Given the description of an element on the screen output the (x, y) to click on. 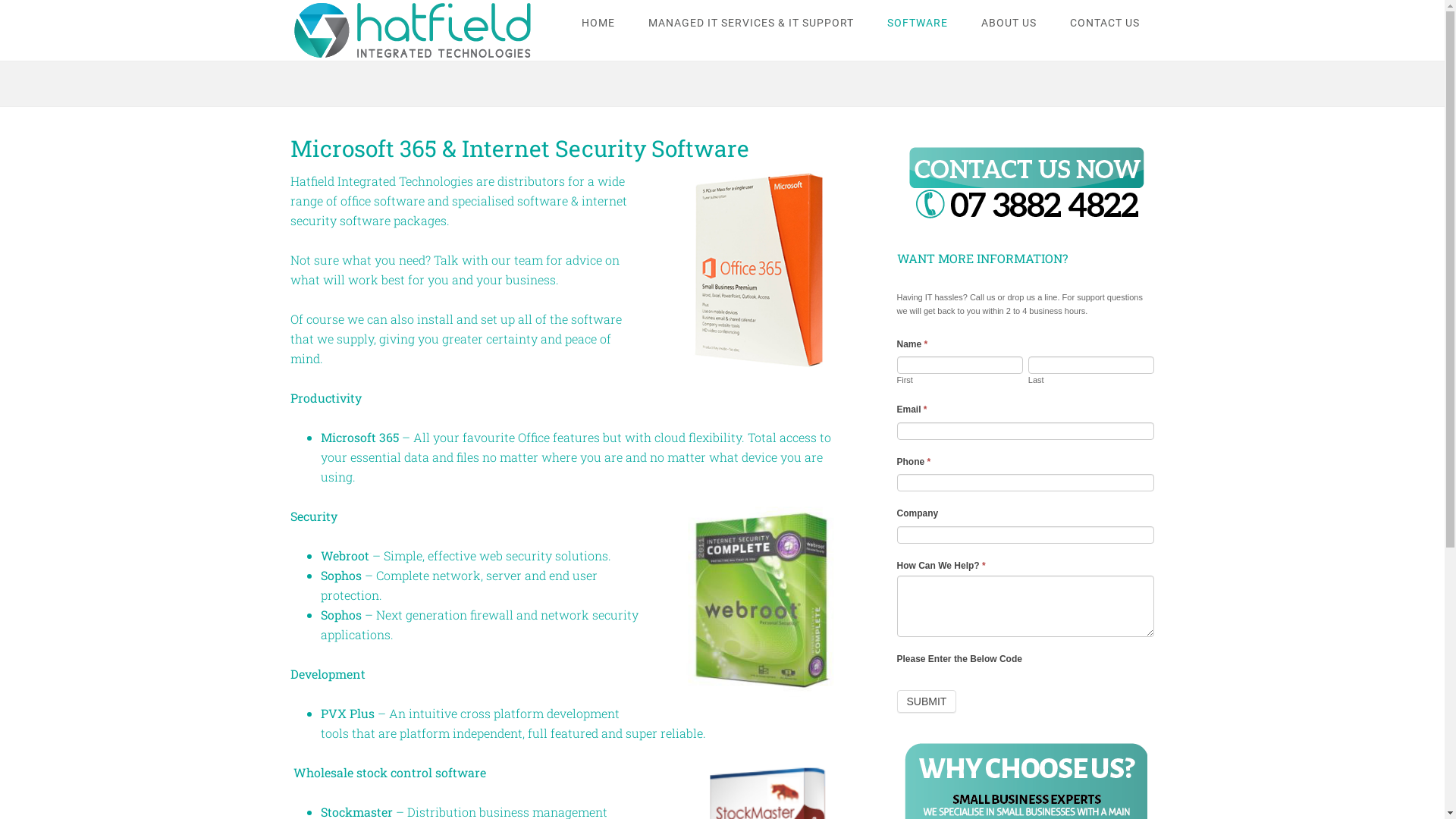
Submit Element type: text (926, 701)
MANAGED IT SERVICES & IT SUPPORT Element type: text (750, 23)
ABOUT US Element type: text (1008, 23)
HOME Element type: text (597, 23)
SOFTWARE Element type: text (917, 23)
CONTACT US Element type: text (1104, 23)
HATFIELD INTEGRATED TECHNOLOGIES Element type: text (410, 30)
